Given the description of an element on the screen output the (x, y) to click on. 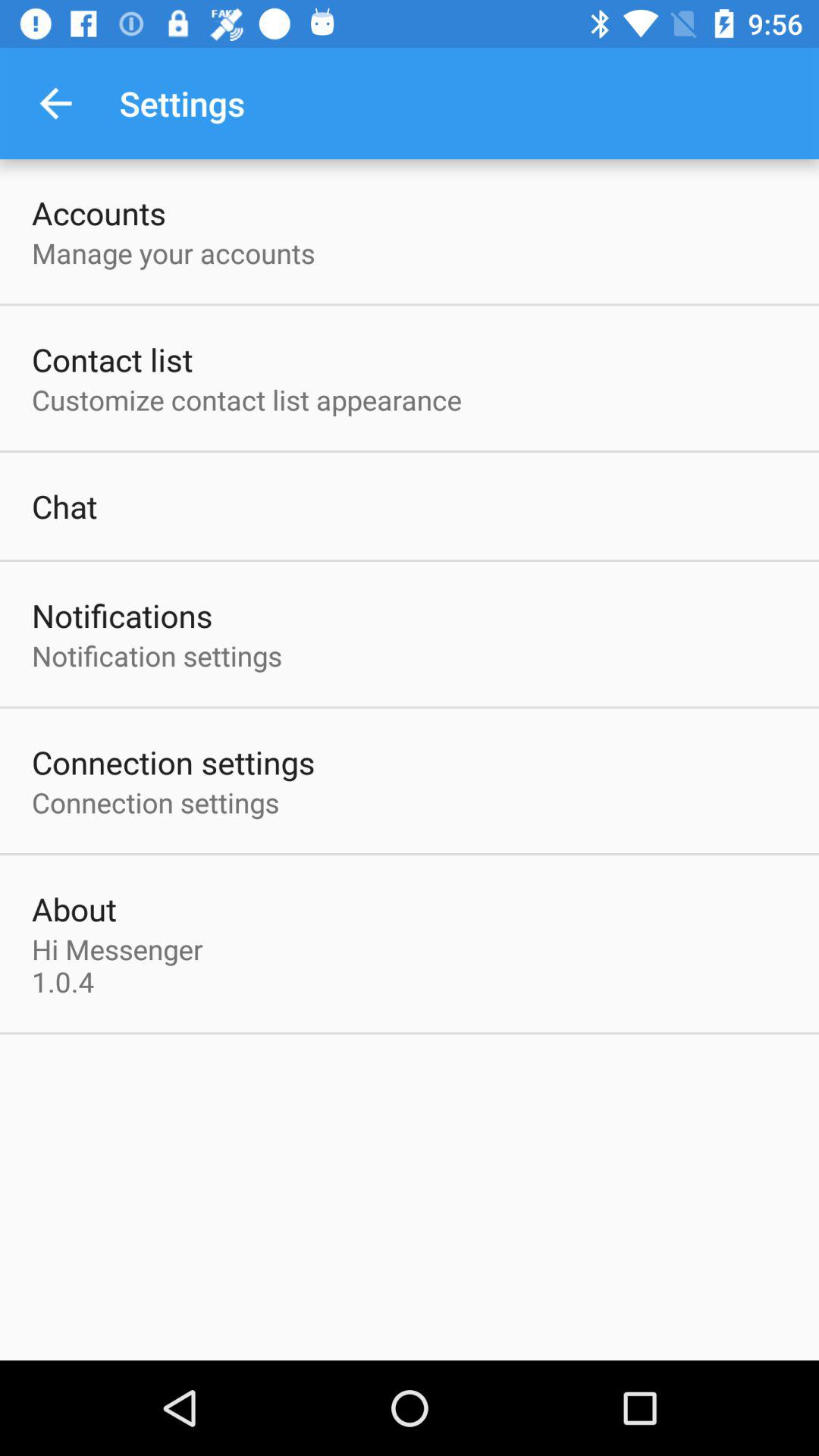
turn off the notifications (121, 615)
